Given the description of an element on the screen output the (x, y) to click on. 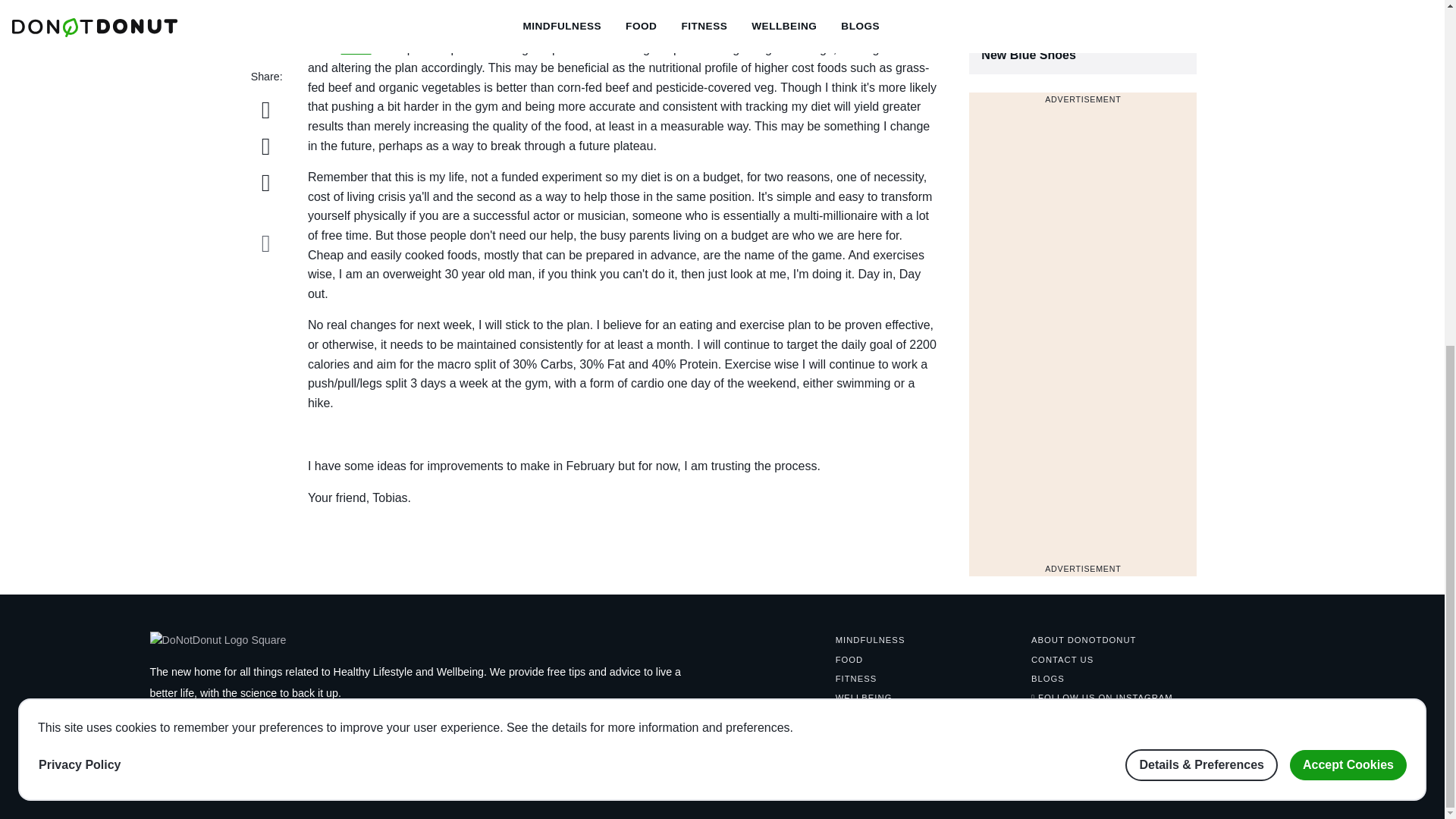
FITNESS (856, 678)
ABOUT DONOTDONUT (1082, 639)
MINDFULNESS (1082, 37)
BLOGS (870, 639)
CONTACT US (1047, 678)
CICO (1061, 659)
COOKIE POLICY (355, 48)
PRIVACY POLICY (418, 786)
FOLLOW US ON INSTAGRAM (318, 786)
Privacy Policy (1101, 696)
FOOD (79, 172)
WELLBEING (849, 659)
